Given the description of an element on the screen output the (x, y) to click on. 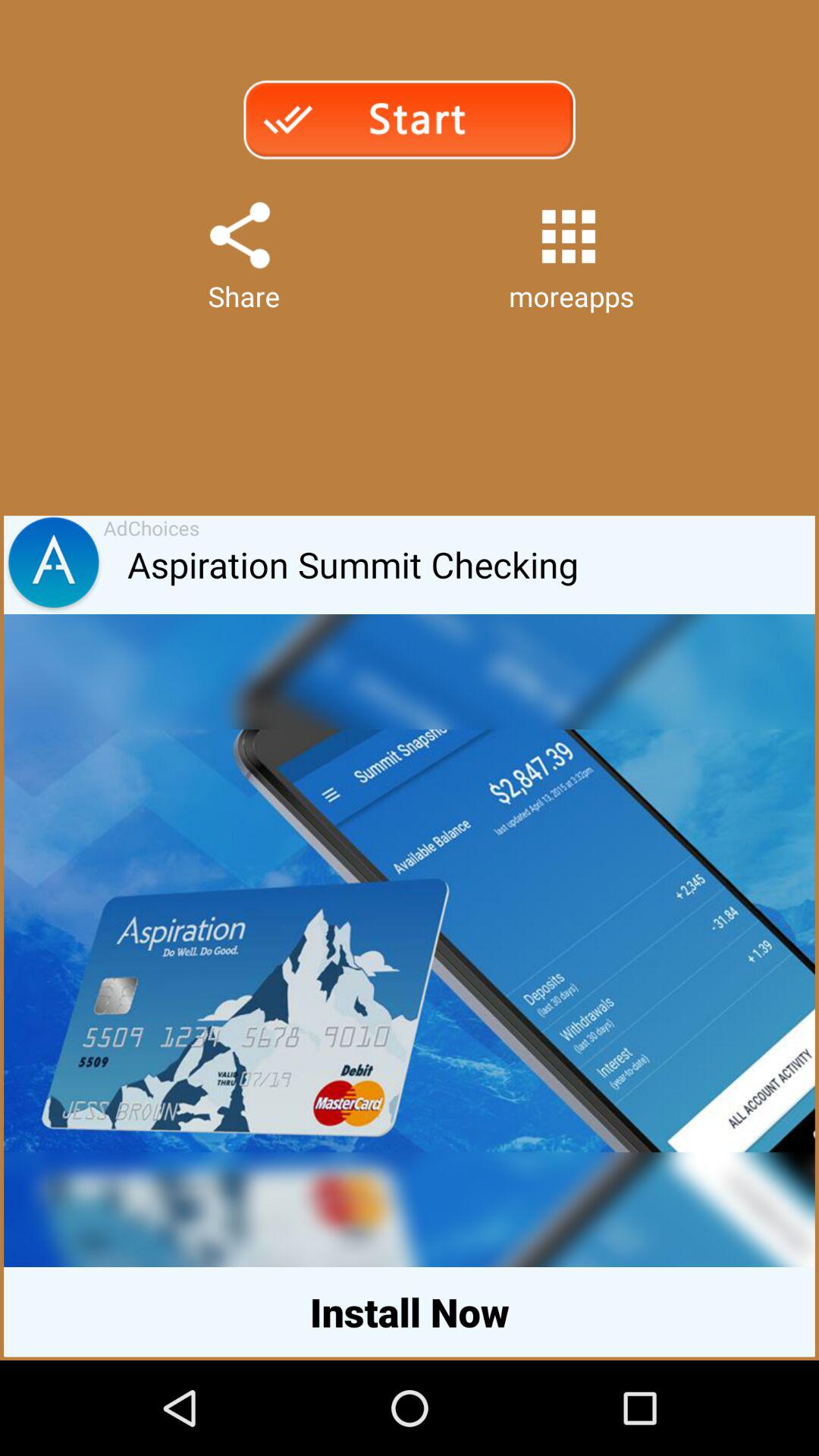
choose the item next to the adchoices item (53, 564)
